Given the description of an element on the screen output the (x, y) to click on. 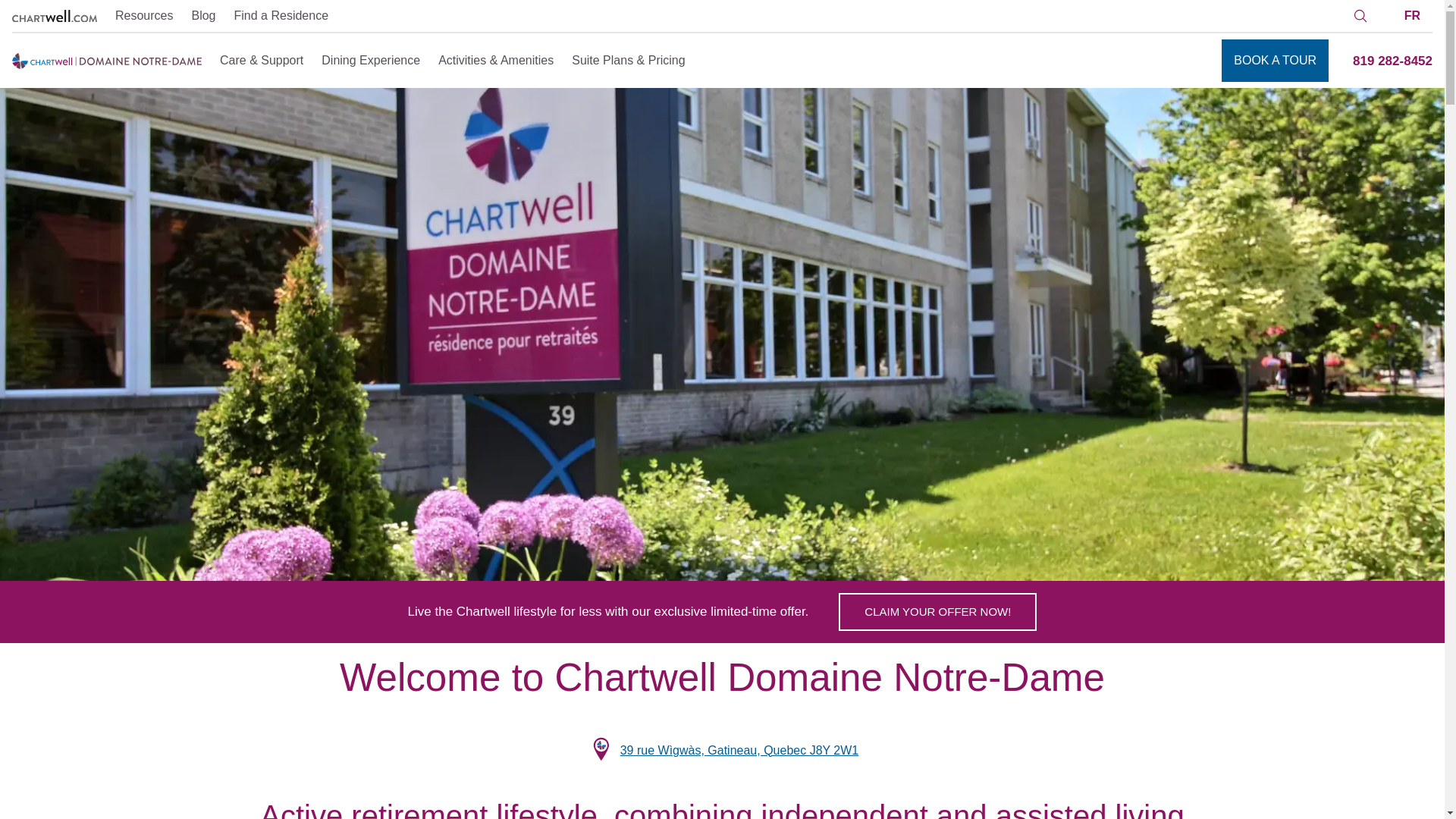
Blog (202, 15)
Home (54, 15)
Resources (144, 15)
BOOK A TOUR (1274, 60)
819 282-8452 (1392, 61)
Find a Residence (281, 15)
Claim Your Offer Now! (937, 611)
Dining Experience (370, 60)
FR (937, 611)
